Given the description of an element on the screen output the (x, y) to click on. 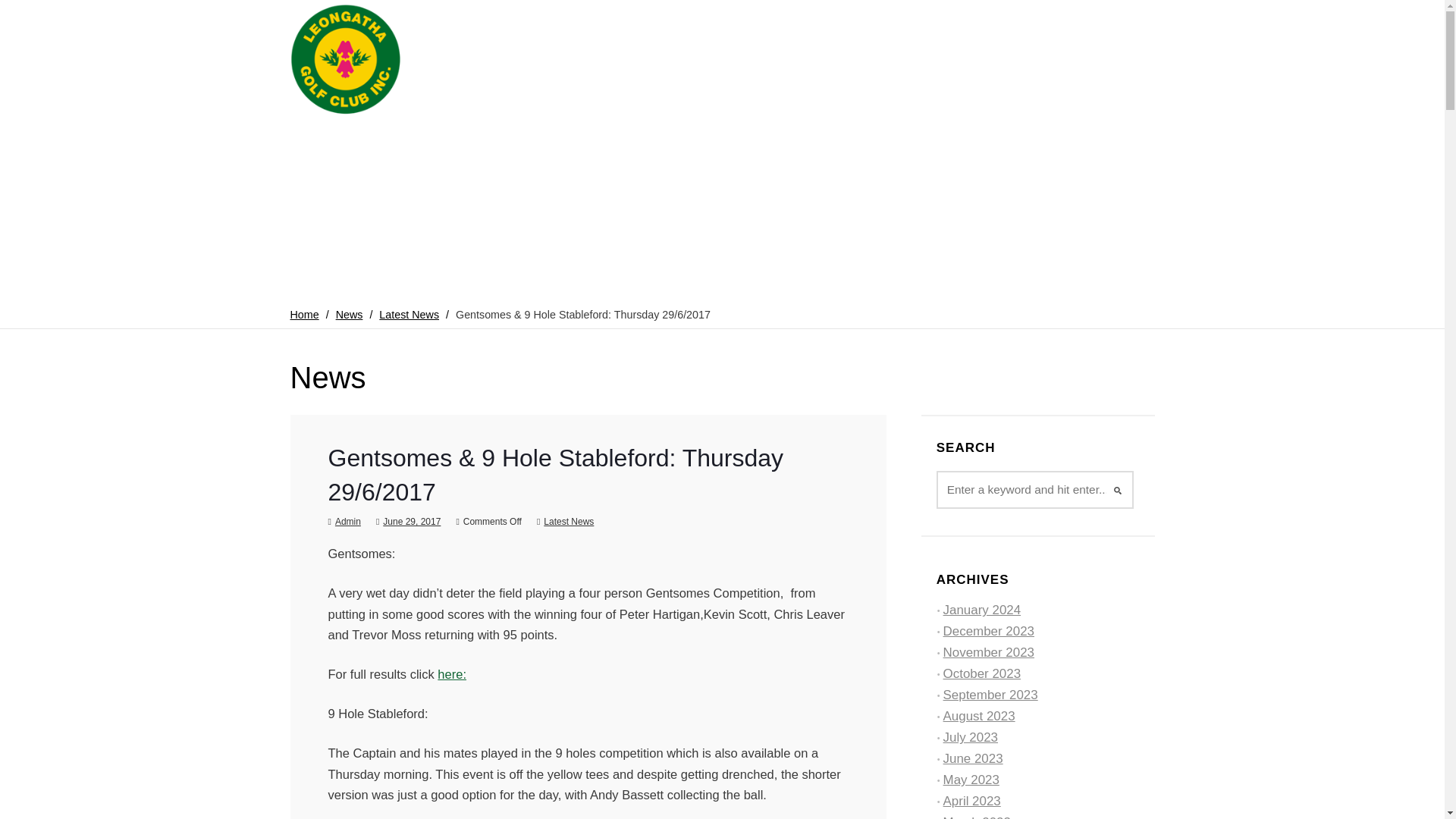
Go to the Latest News Category archives. (408, 315)
Go to News. (349, 315)
MEMBERSHIP (564, 143)
COACHING (943, 143)
ABOUT US (474, 143)
CONTACT (1118, 143)
HOME (405, 143)
Posts by Admin (347, 521)
THE COURSE (722, 143)
MEMBER AREA (1032, 143)
